Given the description of an element on the screen output the (x, y) to click on. 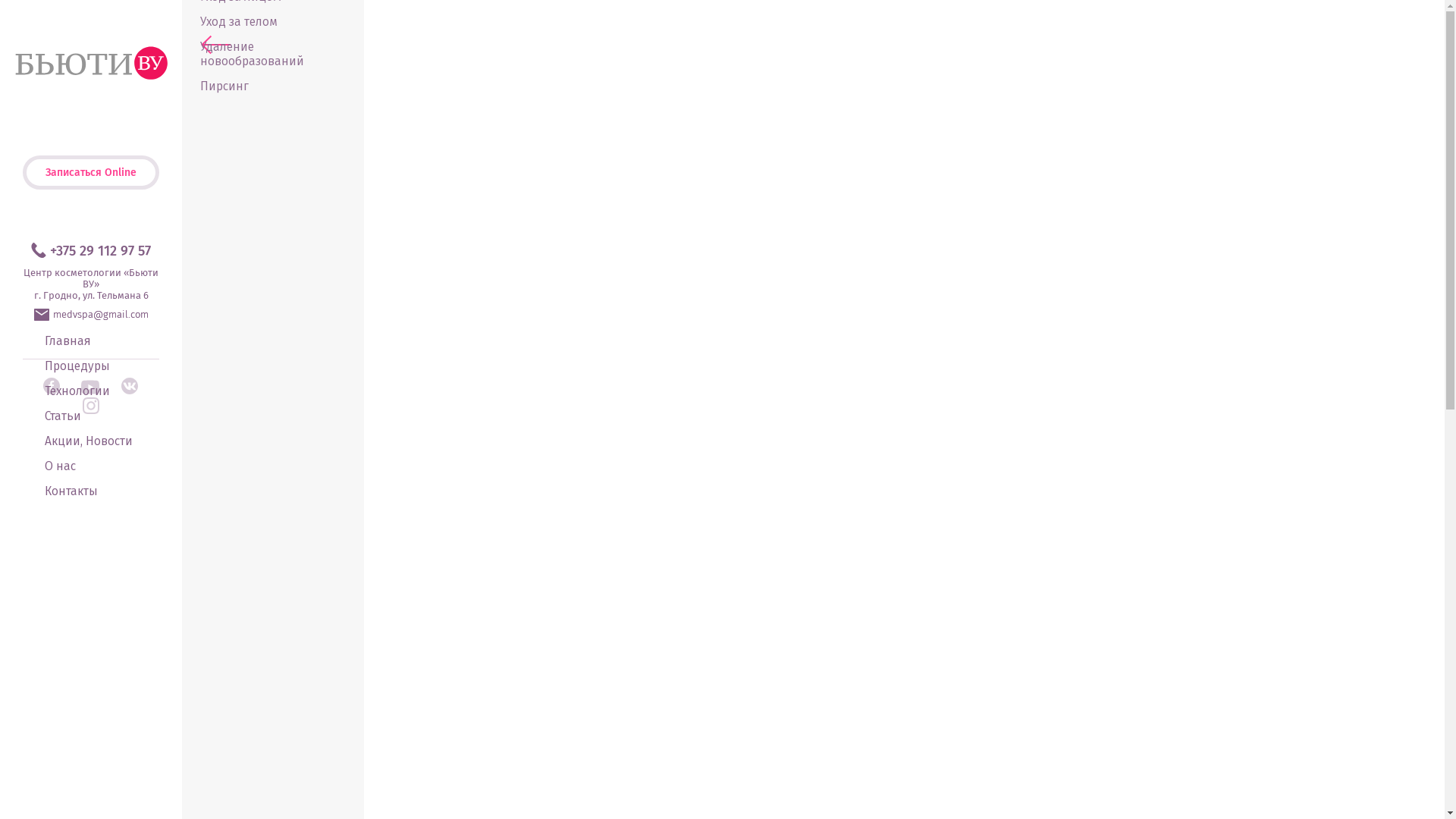
medvspa@gmail.com Element type: text (90, 314)
+375 29 112 97 57 Element type: text (90, 250)
